Given the description of an element on the screen output the (x, y) to click on. 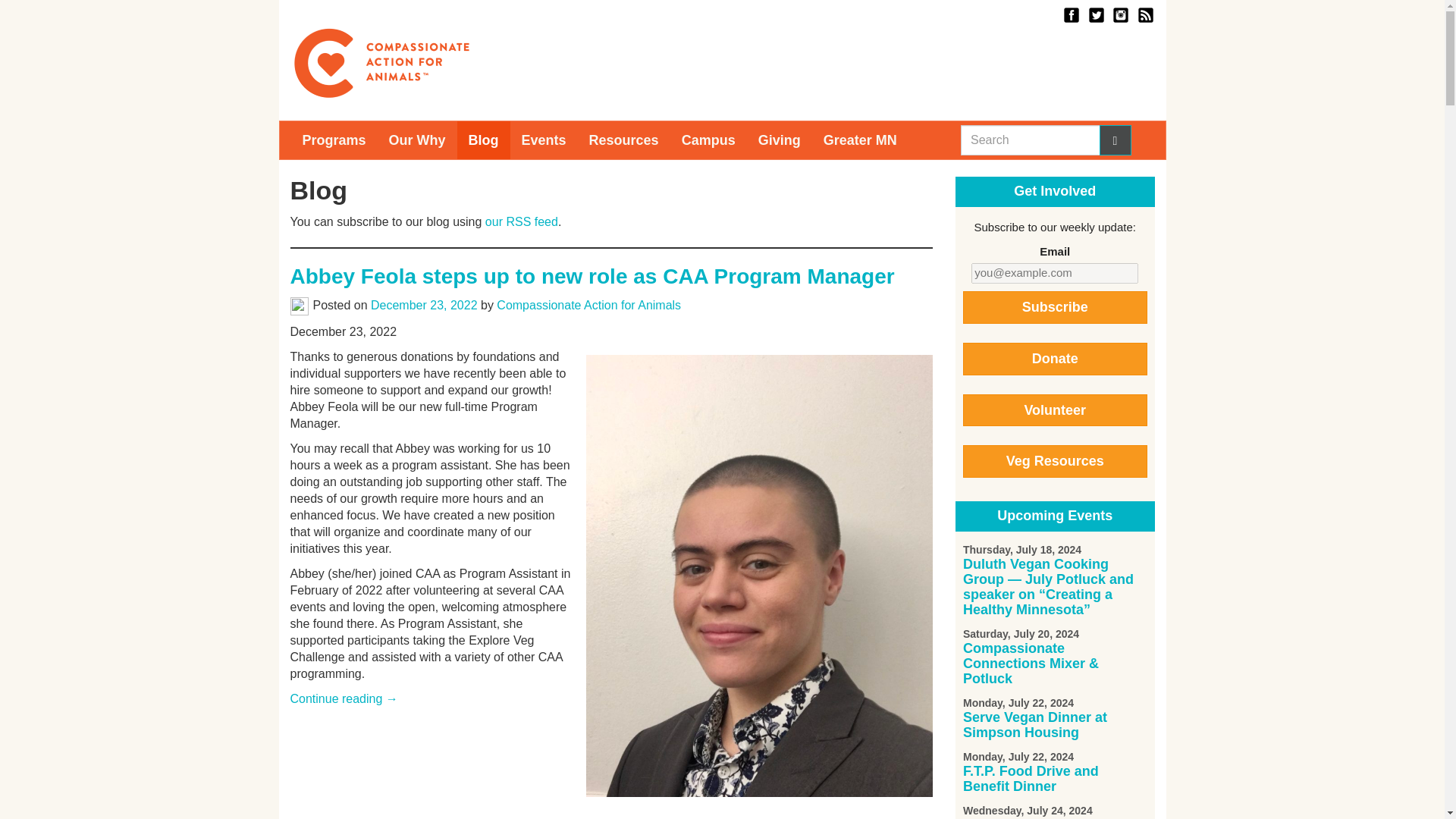
View all posts by Compassionate Action for Animals (588, 305)
Blog (484, 139)
Campus (707, 139)
4:11 pm (424, 305)
Events (544, 139)
Giving (779, 139)
Follow us on Instagram (1118, 13)
Subscribe to our news feed (1143, 13)
Resources (623, 139)
December 23, 2022 (424, 305)
Abbey Feola steps up to new role as CAA Program Manager (591, 276)
Our Why (417, 139)
Follow us on Twitter (1094, 13)
Subscribe (1054, 307)
